Given the description of an element on the screen output the (x, y) to click on. 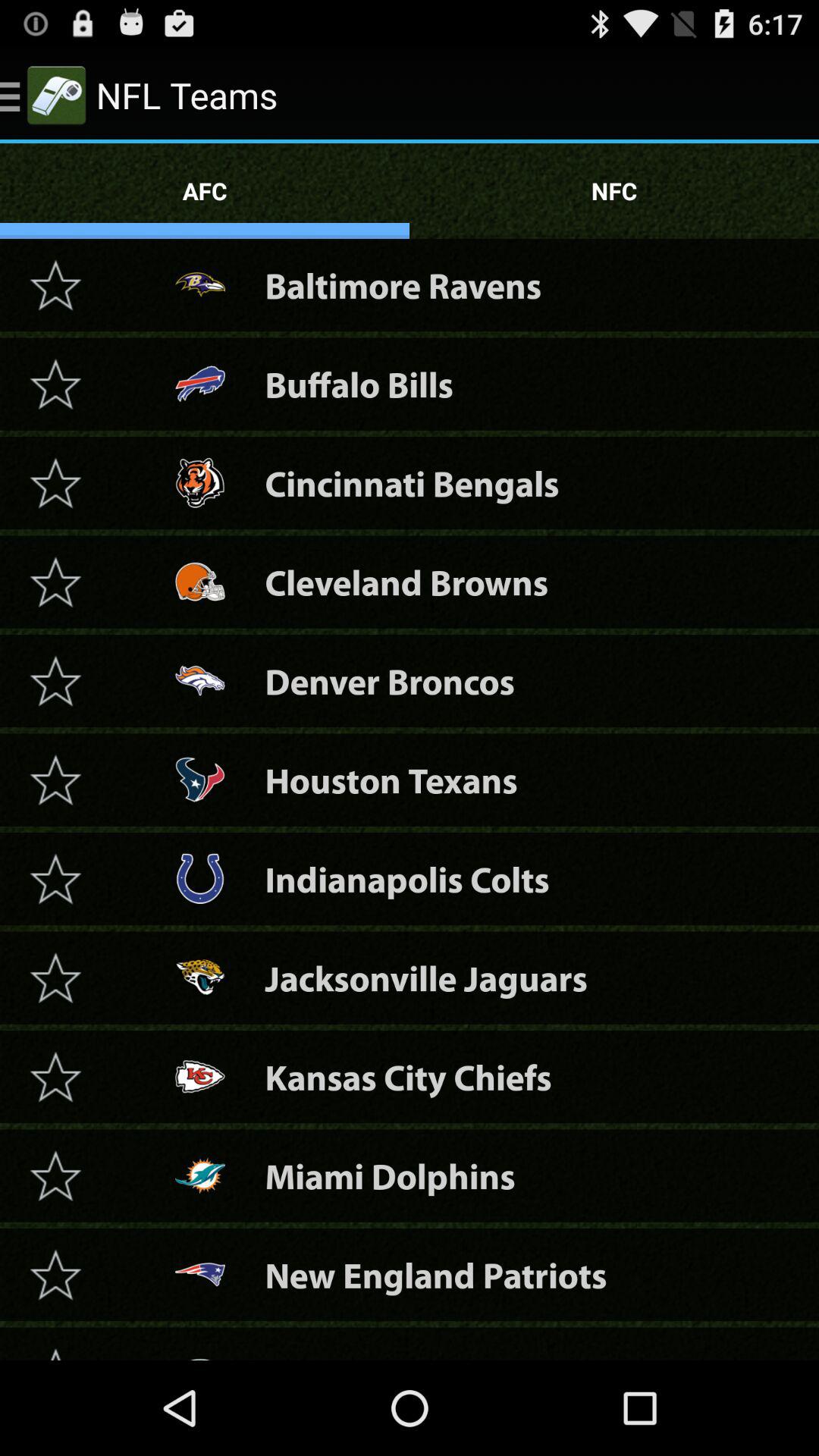
select team (55, 1076)
